Given the description of an element on the screen output the (x, y) to click on. 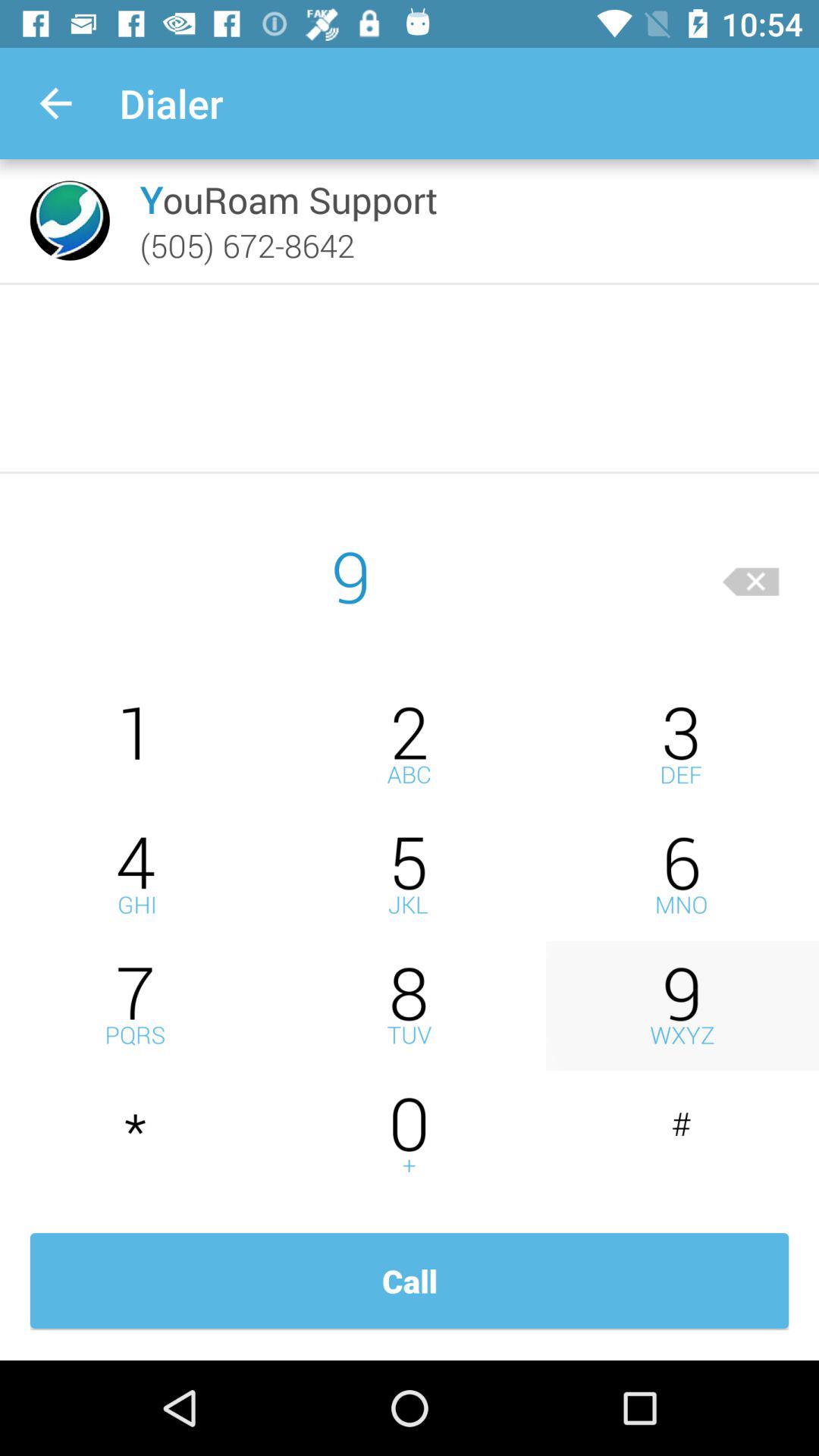
insert 7 (136, 1005)
